Given the description of an element on the screen output the (x, y) to click on. 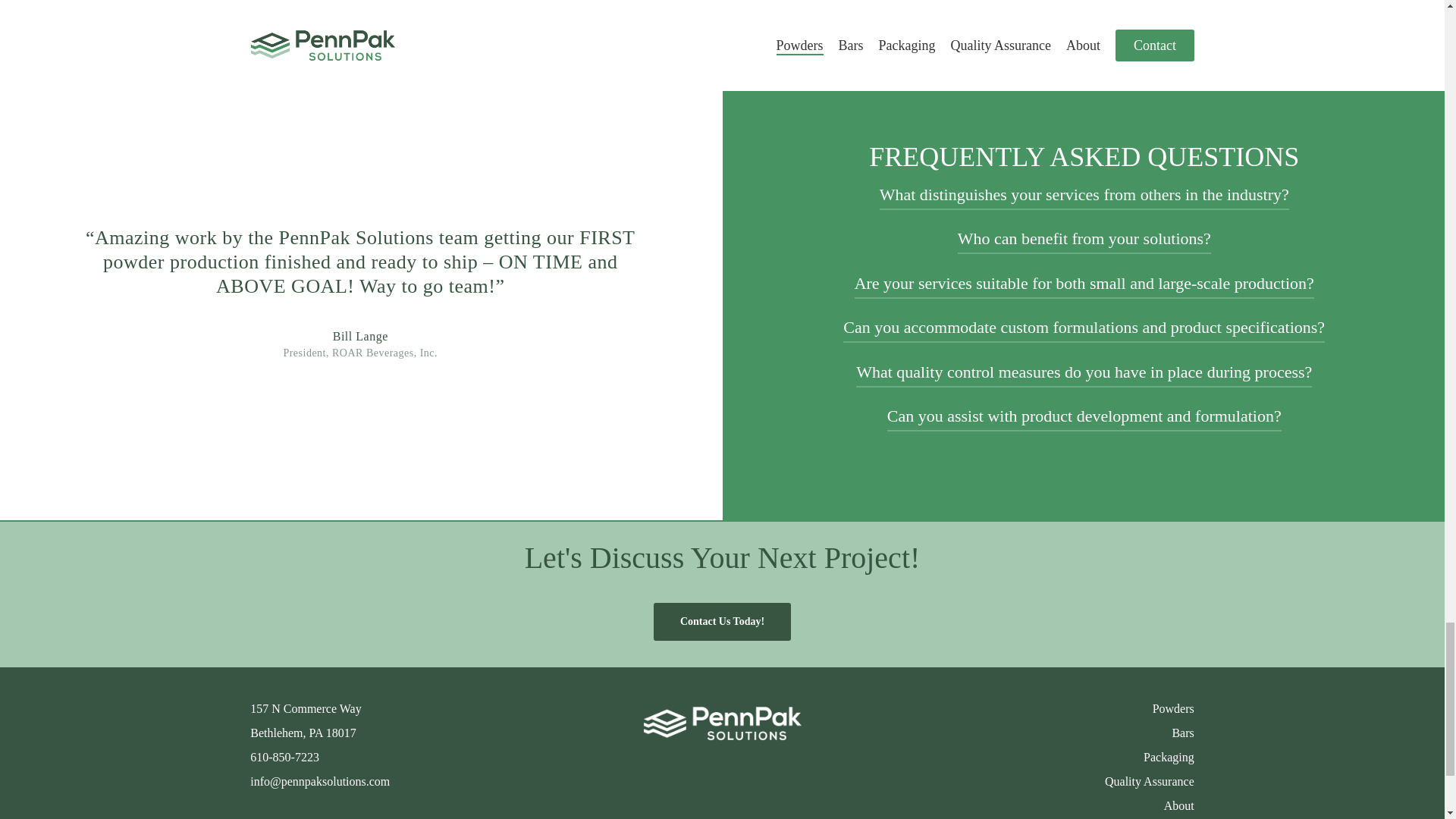
Quality Assurance (1149, 780)
Powders (1173, 707)
Packaging (1167, 757)
powders-gallery1 (233, 18)
Can you assist with product development and formulation? (1083, 416)
Contact Us Today! (721, 621)
Bars (1182, 732)
About (1178, 805)
powders-gallery3 (1172, 18)
powders-gallery2 (703, 18)
Who can benefit from your solutions? (1084, 238)
